Given the description of an element on the screen output the (x, y) to click on. 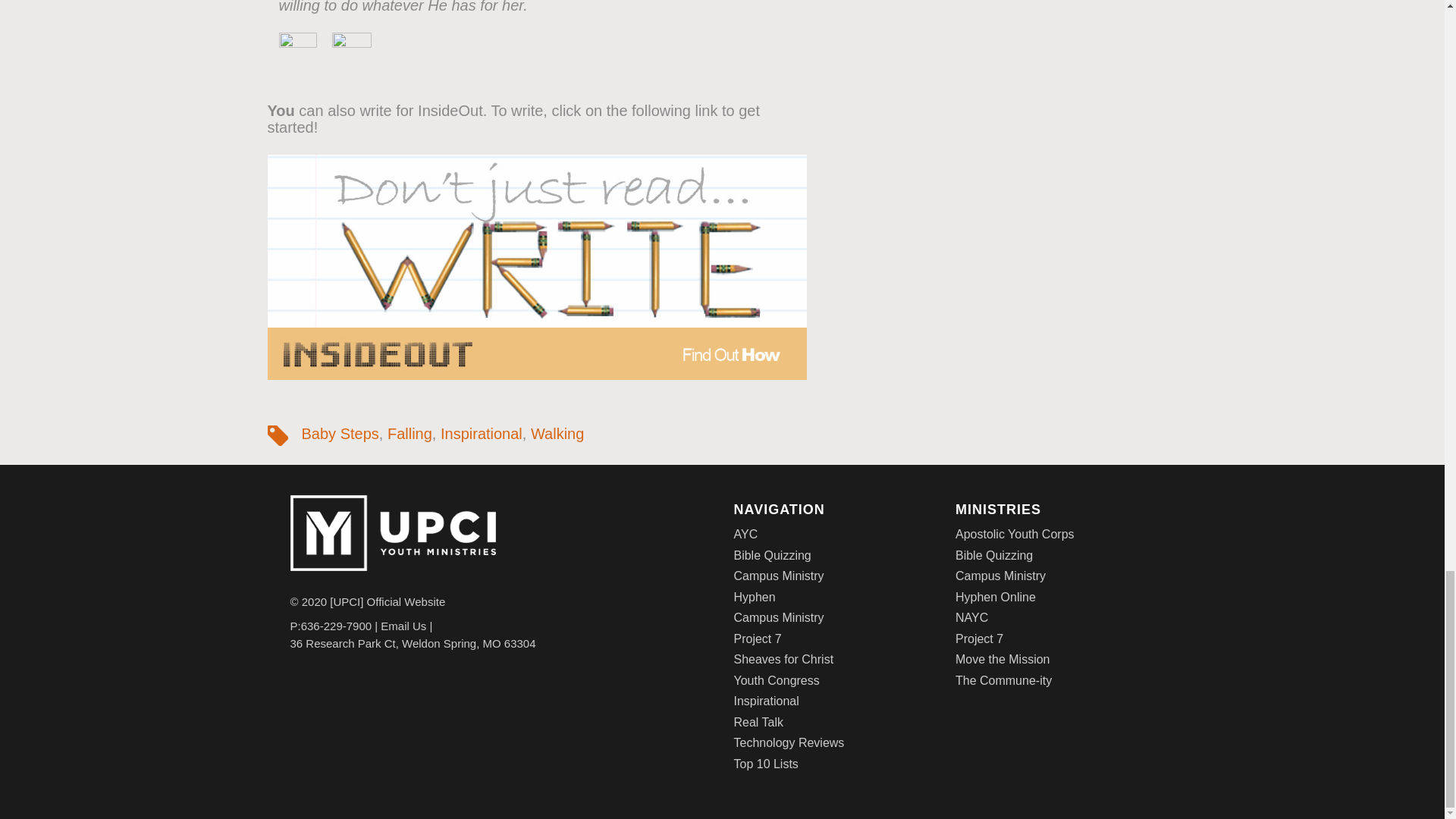
Facebook 50 (298, 52)
Twitter 50 (351, 51)
